Given the description of an element on the screen output the (x, y) to click on. 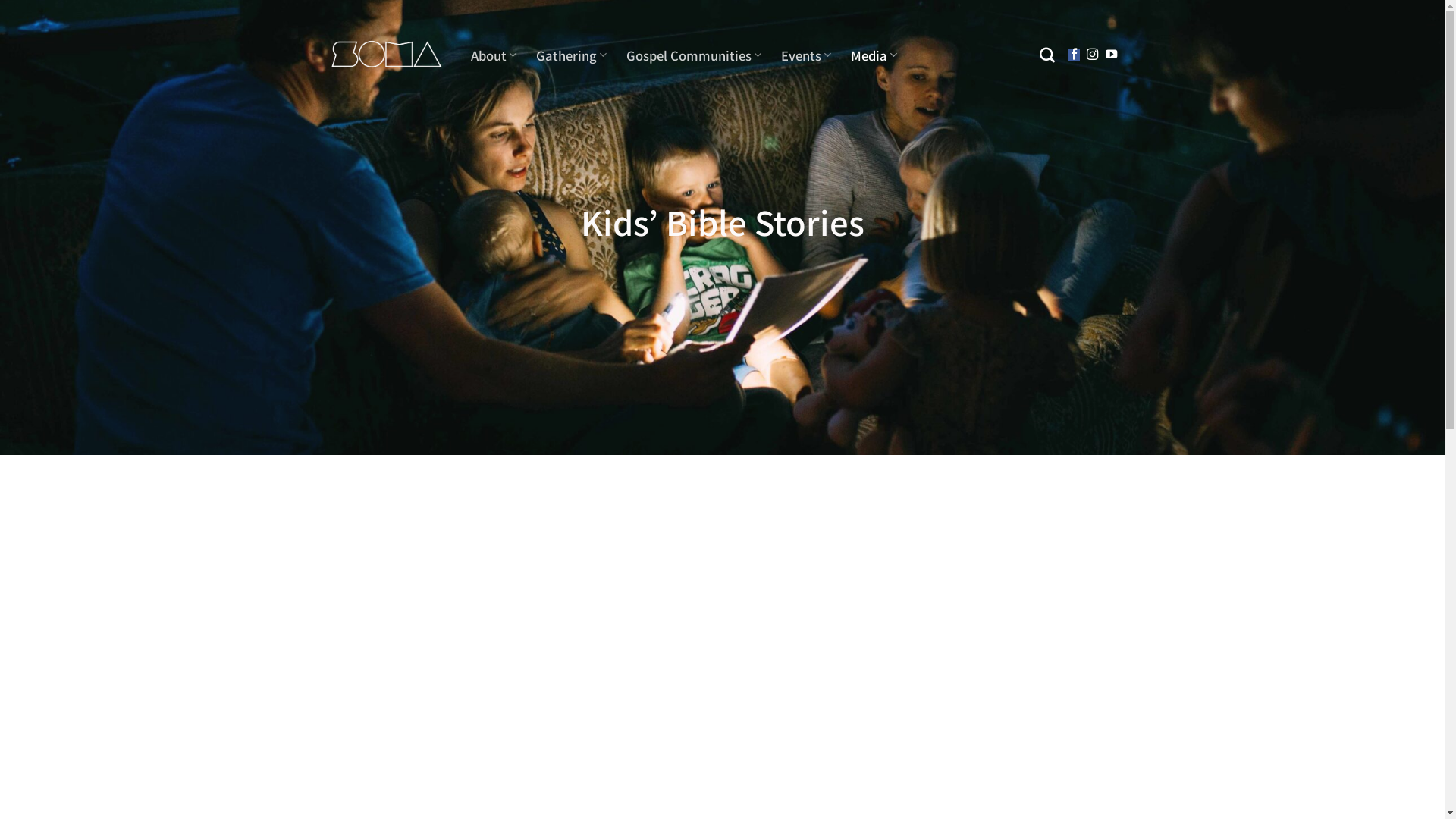
Soma Blue Mountains Element type: hover (386, 54)
Events Element type: text (806, 54)
Gathering Element type: text (571, 54)
Jesus feeds the 5000 - Kids story, Mel & Charlie Jackson Element type: hover (927, 586)
The Prodigal Son - Kids Story, Steph Martyn Element type: hover (517, 586)
About Element type: text (492, 54)
Gospel Communities Element type: text (693, 54)
Media Element type: text (873, 54)
